Given the description of an element on the screen output the (x, y) to click on. 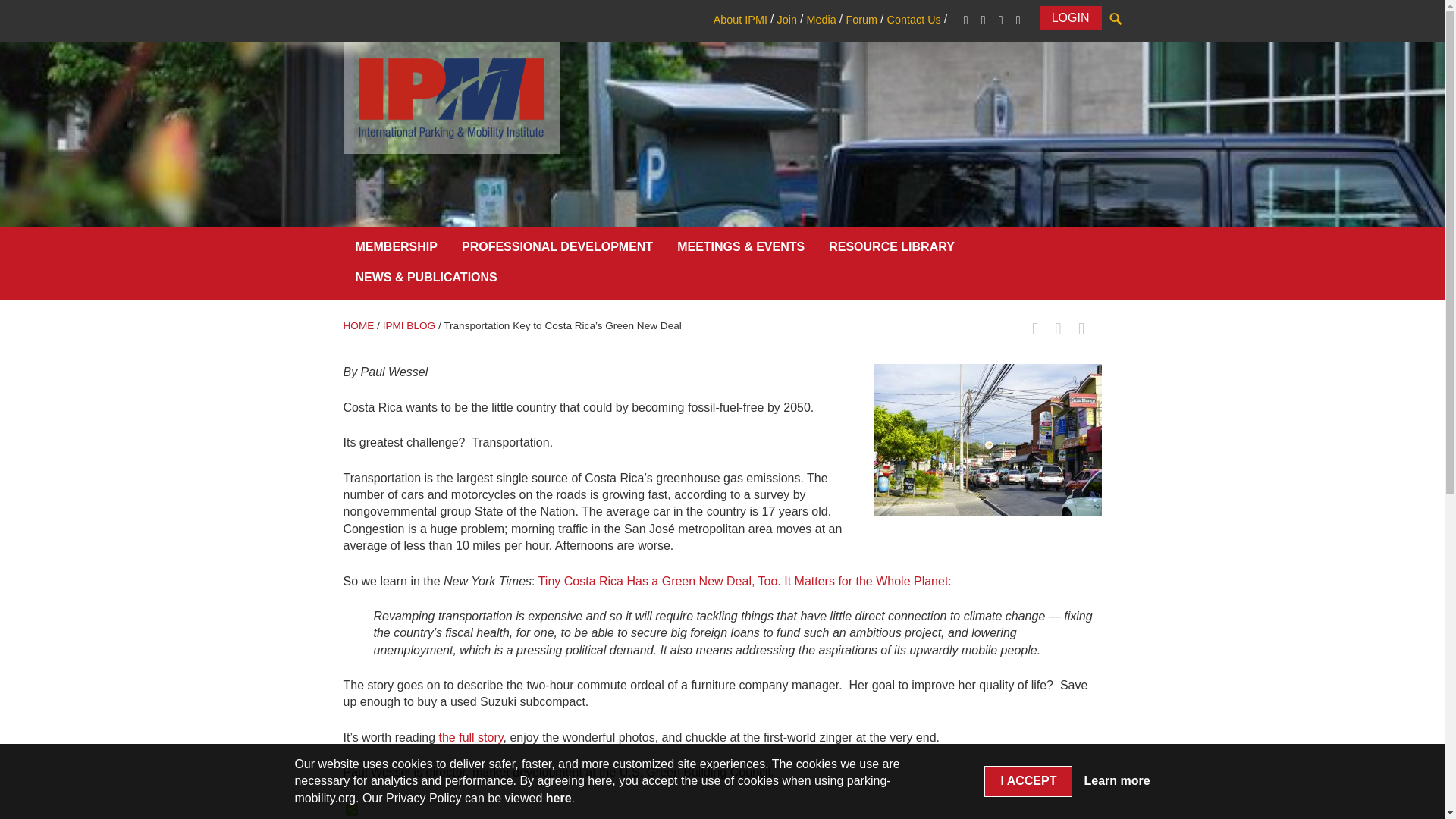
Contact Us (913, 19)
IPMI (450, 97)
About IPMI (740, 19)
Forum (861, 19)
Go to the IPMI Blog category archives. (408, 325)
LOGIN (1070, 17)
Join (786, 19)
Media (821, 19)
RESOURCE LIBRARY (891, 250)
